Given the description of an element on the screen output the (x, y) to click on. 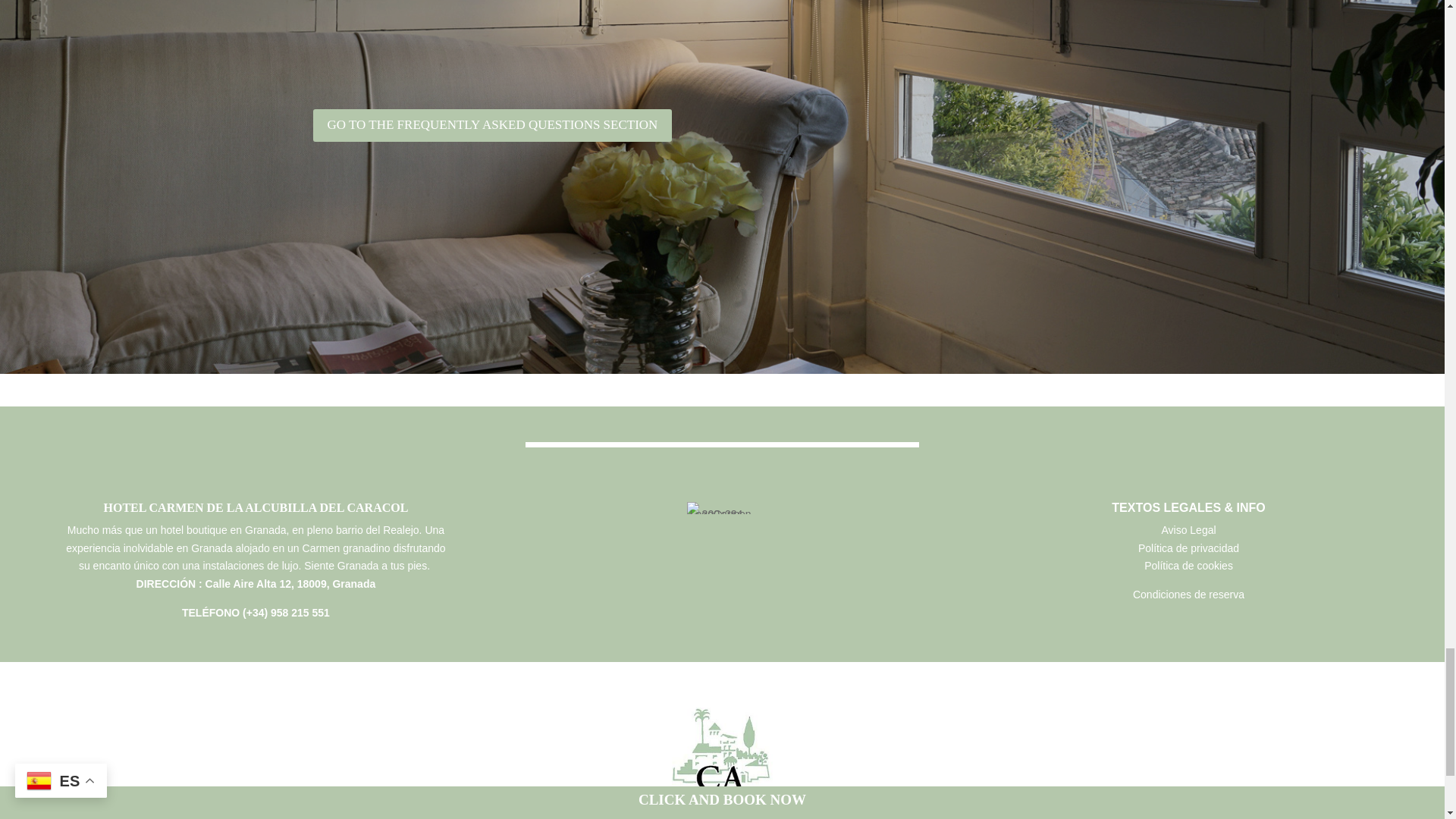
LogoCarmen-300x284 (722, 508)
logo alcubilla caracol hotel boutique carmen granada (721, 751)
